Given the description of an element on the screen output the (x, y) to click on. 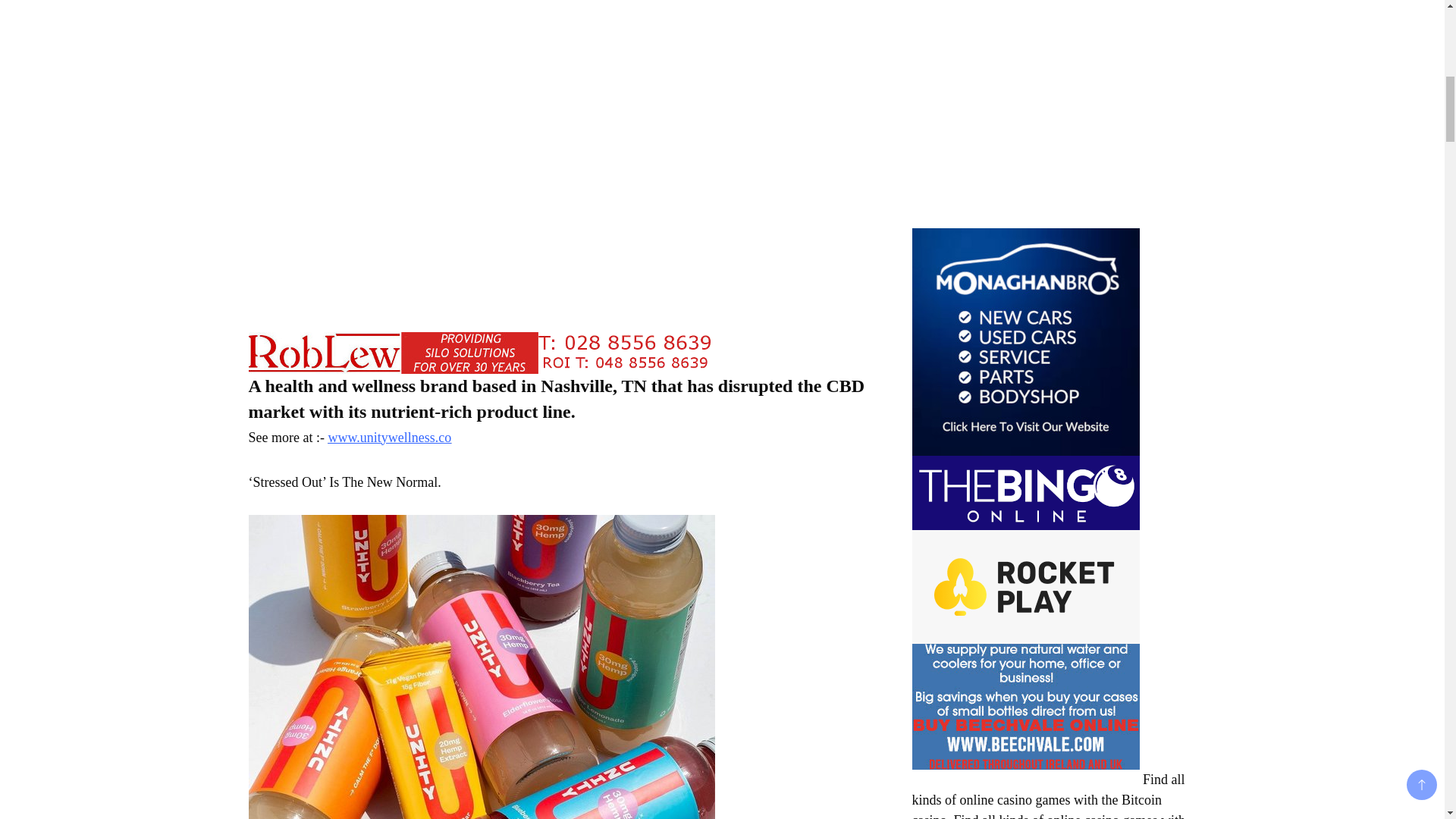
Advertisement (1024, 110)
TheBingoOnline (1024, 492)
www.unitywellness.co (389, 436)
Rocketplay Casino (1024, 586)
